Given the description of an element on the screen output the (x, y) to click on. 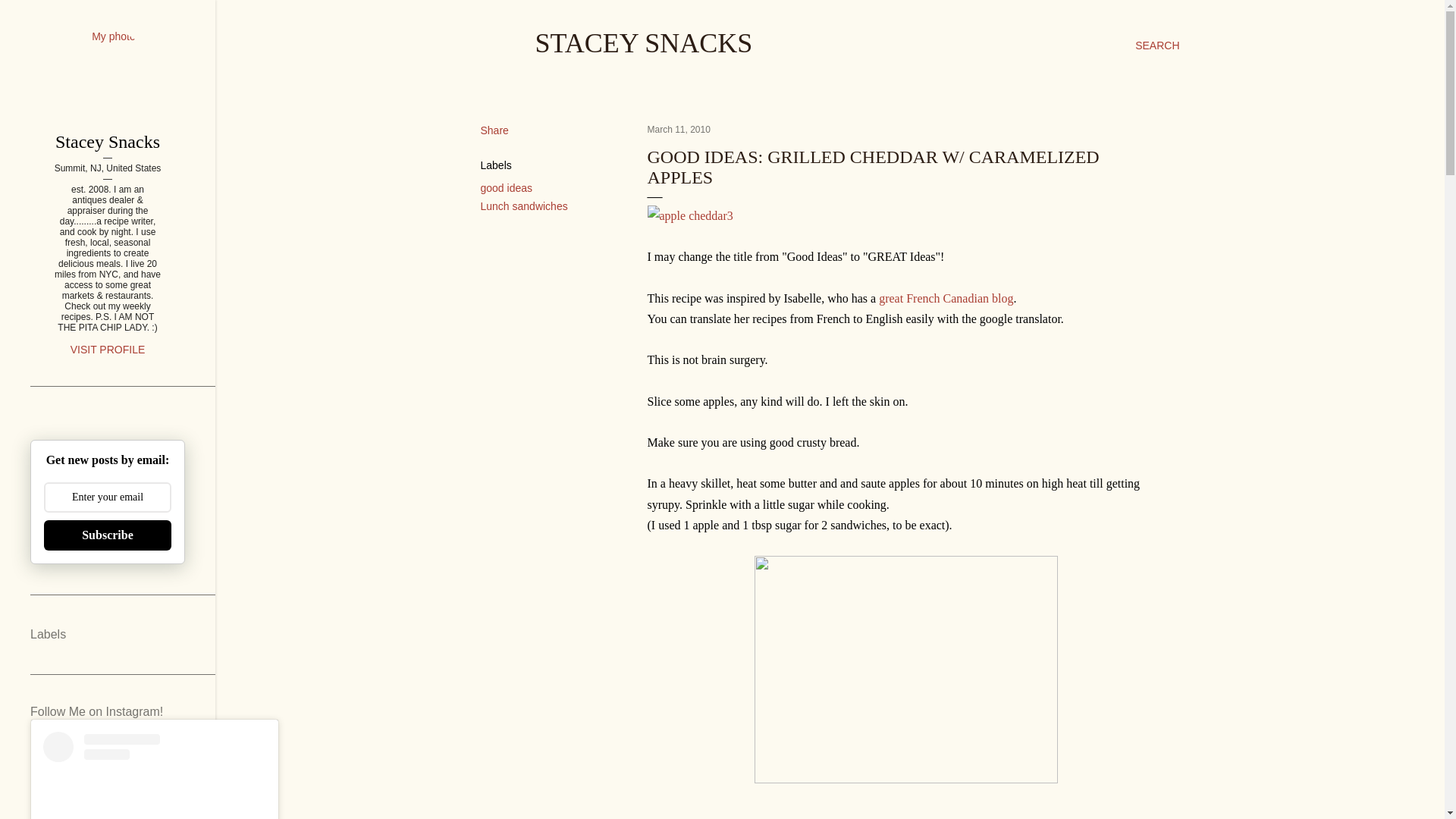
Lunch sandwiches (523, 205)
great French Canadian blog (946, 297)
Share (494, 130)
March 11, 2010 (678, 129)
good ideas (506, 187)
SEARCH (1157, 45)
STACEY SNACKS (643, 42)
permanent link (678, 129)
apple cheddar3 (690, 215)
